Given the description of an element on the screen output the (x, y) to click on. 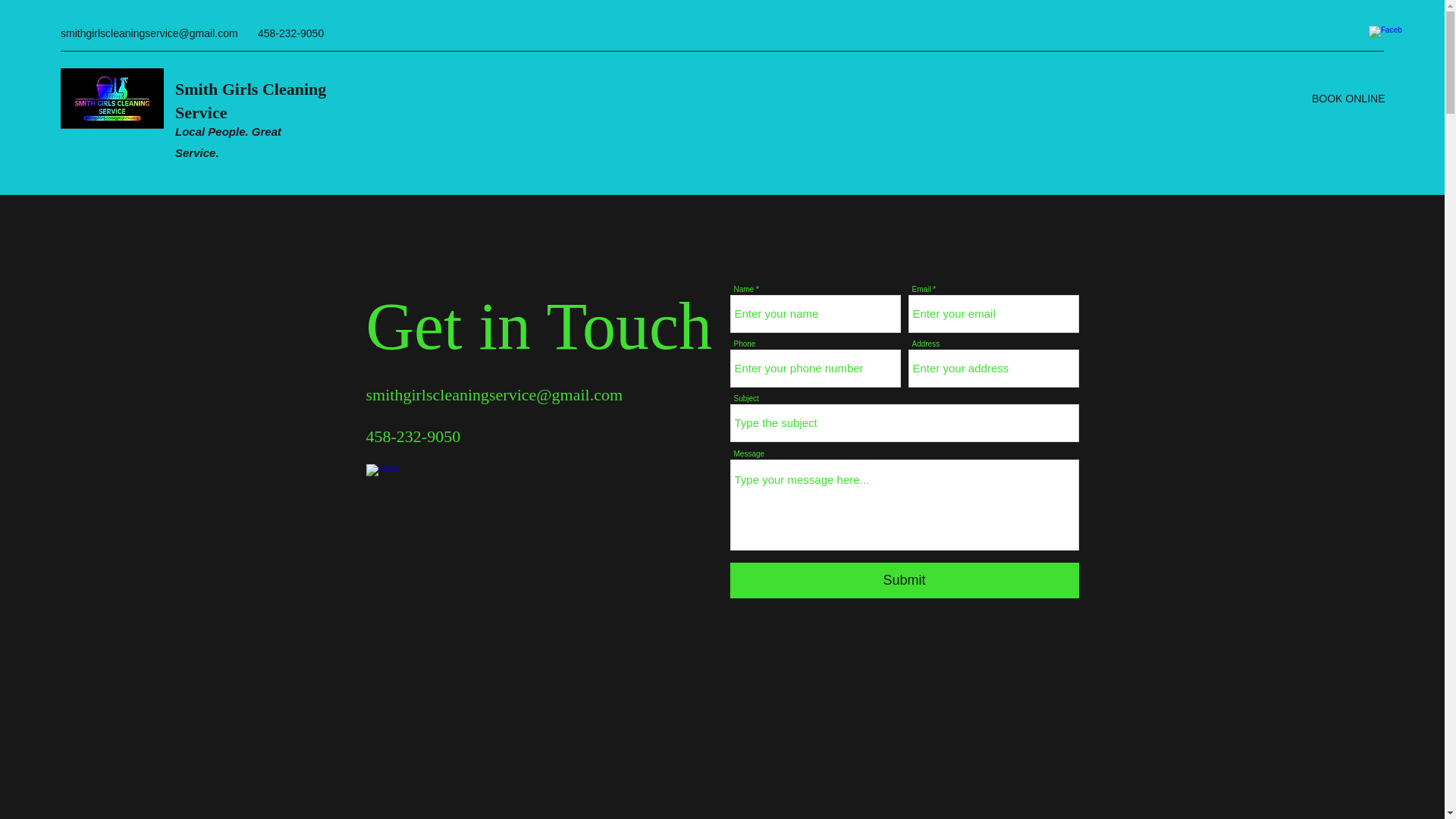
Smith Girls Cleaning Service (250, 100)
Submit (903, 580)
BOOK ONLINE (1347, 97)
